Given the description of an element on the screen output the (x, y) to click on. 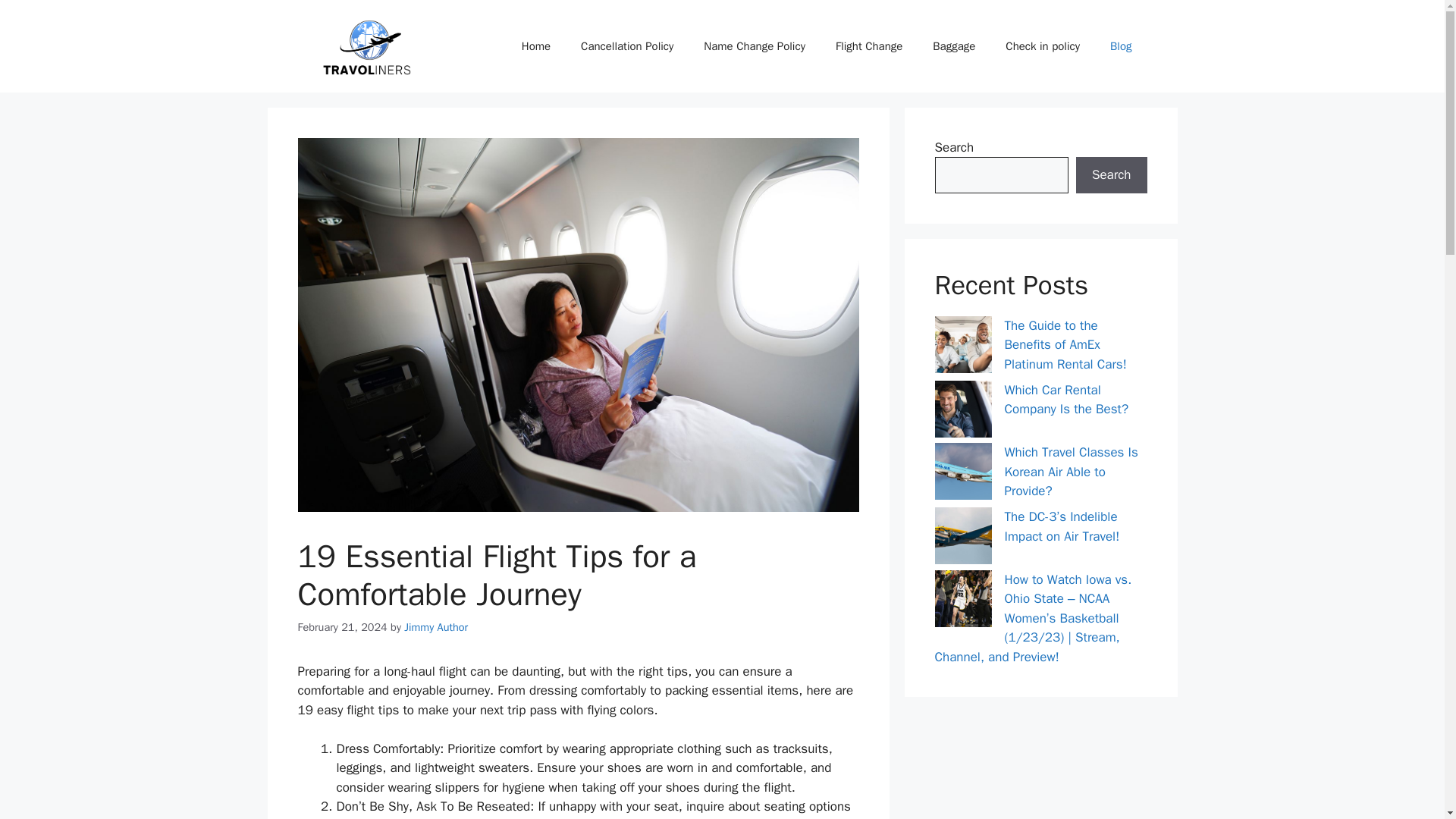
Home (536, 45)
View all posts by Jimmy Author (435, 626)
Cancellation Policy (627, 45)
Check in policy (1042, 45)
Blog (1120, 45)
The Guide to the Benefits of AmEx Platinum Rental Cars! (1064, 344)
Flight Change (869, 45)
Jimmy Author (435, 626)
Which Travel Classes Is Korean Air Able to Provide? (1070, 471)
Which Car Rental Company Is the Best? (1066, 399)
Baggage (953, 45)
Search (1111, 175)
Name Change Policy (754, 45)
